Given the description of an element on the screen output the (x, y) to click on. 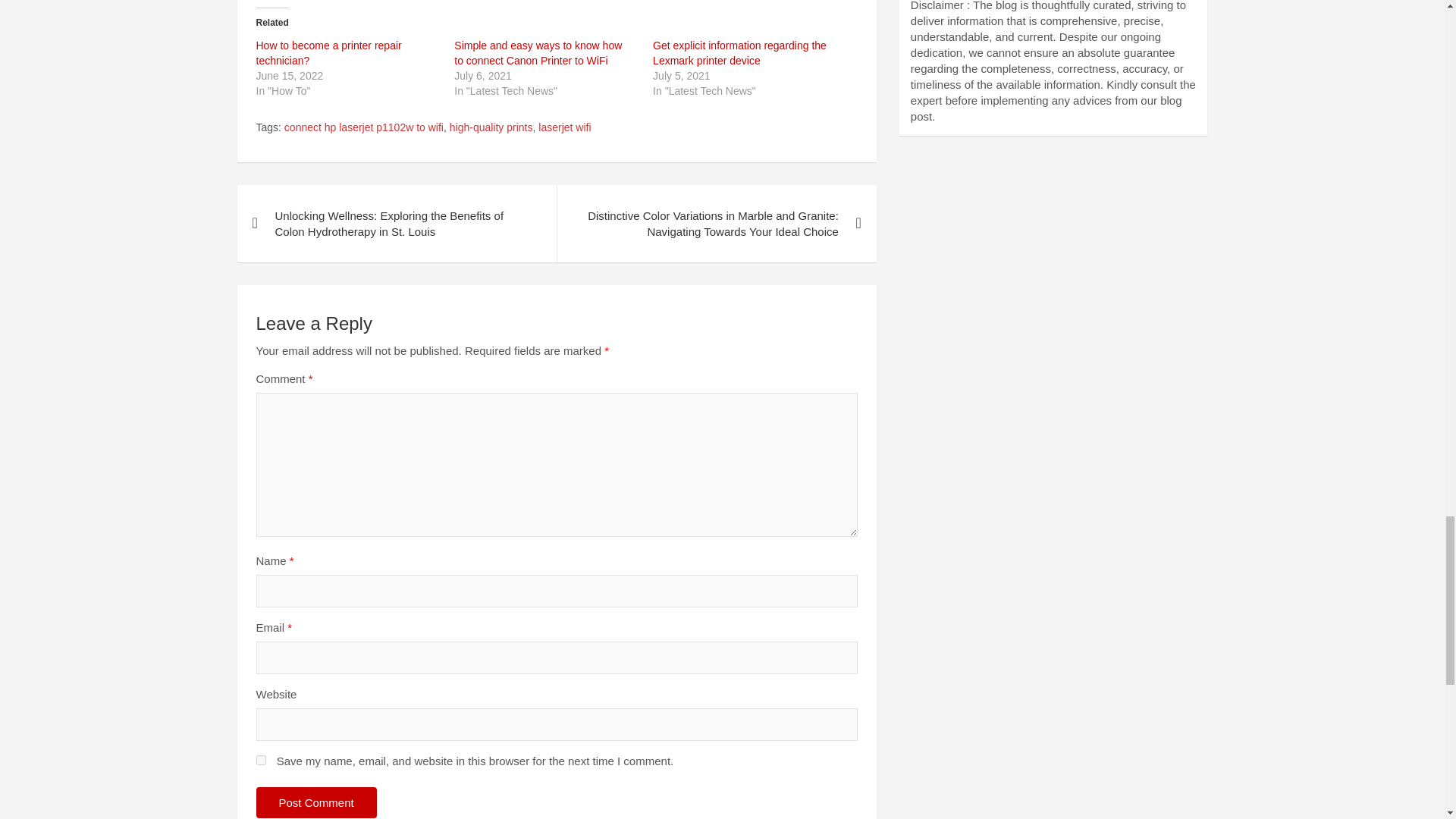
laserjet wifi (564, 127)
yes (261, 759)
How to become a printer repair technician? (328, 52)
high-quality prints (490, 127)
How to become a printer repair technician? (328, 52)
